Given the description of an element on the screen output the (x, y) to click on. 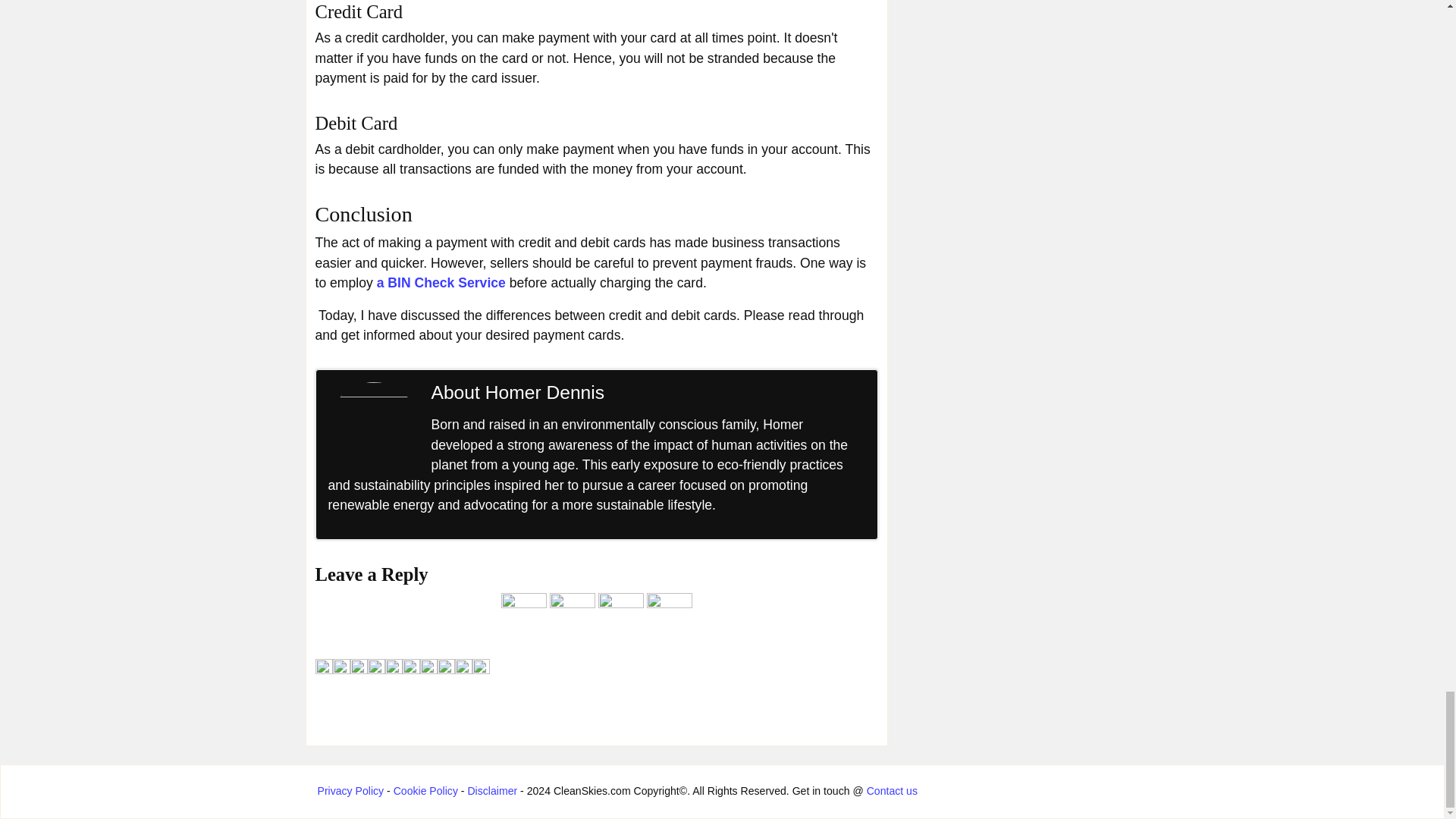
a BIN Check Service (441, 282)
